Given the description of an element on the screen output the (x, y) to click on. 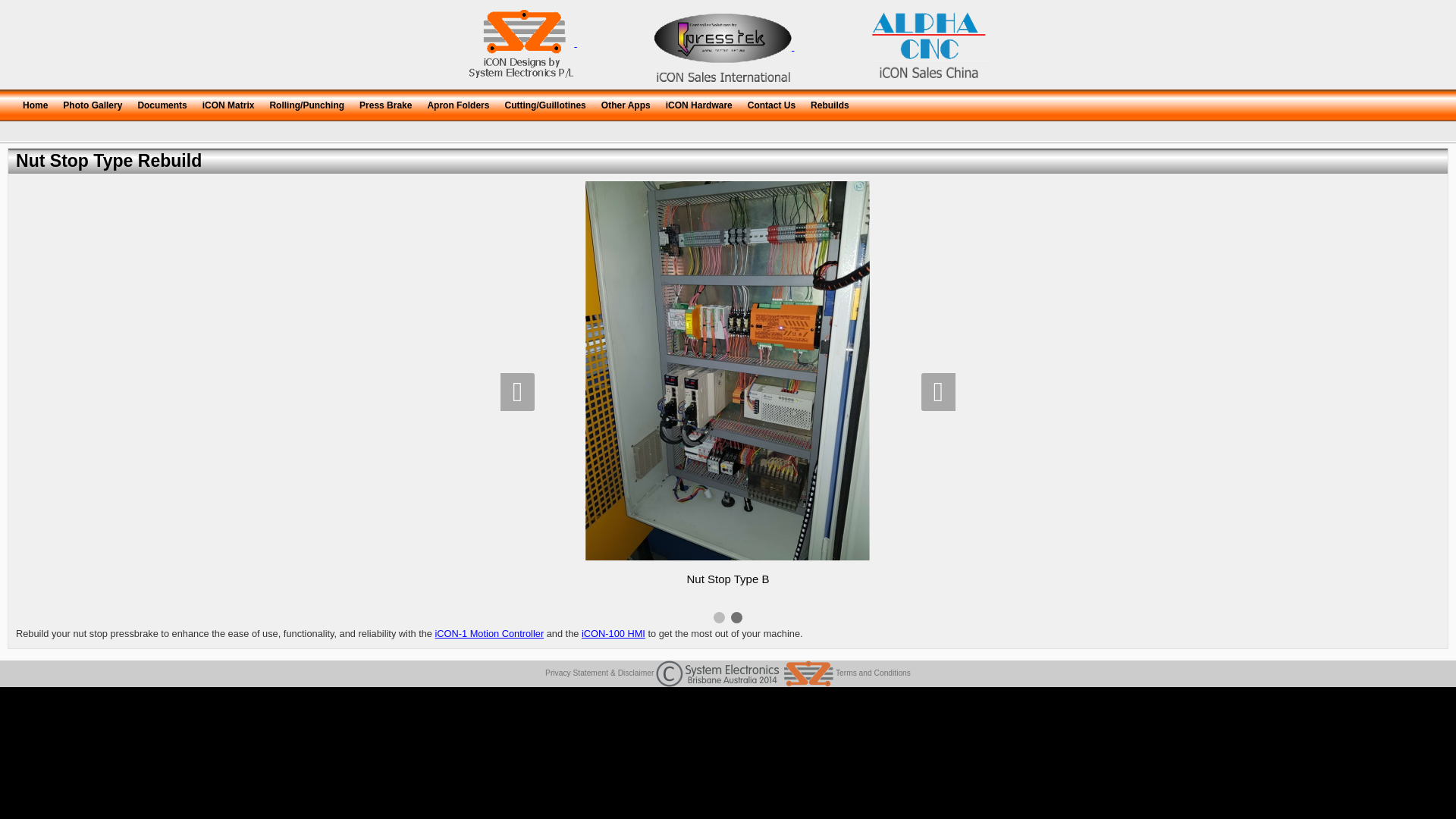
Apron Folders Element type: text (457, 102)
iCON Matrix Element type: text (228, 102)
Rolling/Punching Element type: text (306, 102)
SE Copyright Element type: hover (744, 673)
Rebuilds Element type: text (829, 102)
Press Brake Element type: text (385, 102)
Privacy Statement & Disclaimer Element type: text (599, 672)
iCON-100 HMI Element type: text (613, 633)
Terms and Conditions Element type: text (872, 672)
About Us Element type: hover (521, 43)
AlphaCNC Home Element type: hover (929, 43)
iCON-1 Motion Controller Element type: text (489, 633)
Cutting/Guillotines Element type: text (544, 102)
Photo Gallery Element type: text (92, 102)
Documents Element type: text (161, 102)
Contact Us Element type: text (771, 102)
Home Element type: text (35, 102)
iControl Home Element type: hover (722, 47)
iCON Hardware Element type: text (699, 102)
Other Apps Element type: text (625, 102)
